Given the description of an element on the screen output the (x, y) to click on. 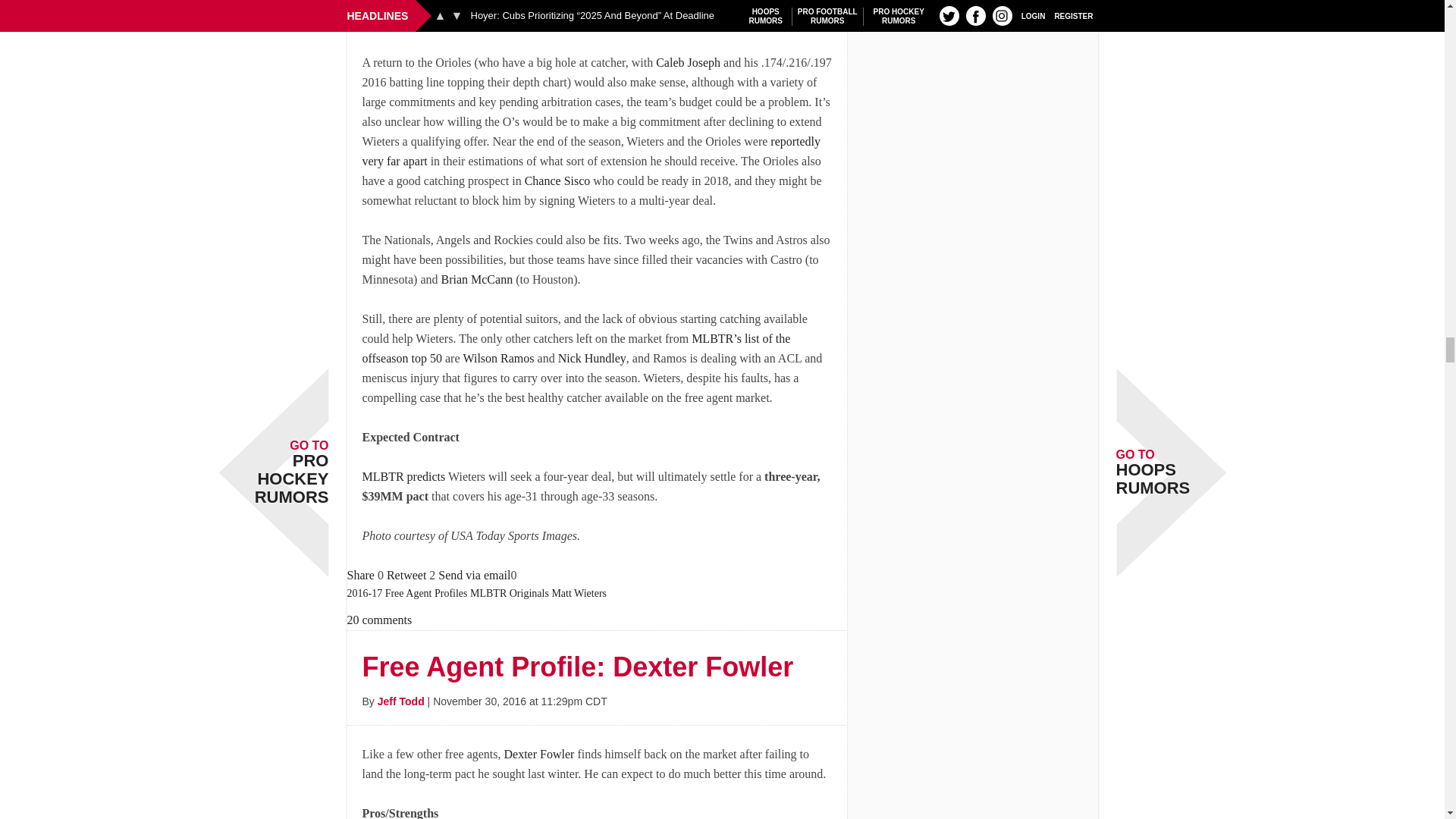
Retweet 'Free Agent Profile: Matt Wieters' on Twitter (406, 574)
Share 'Free Agent Profile: Matt Wieters' on Facebook (360, 574)
